Given the description of an element on the screen output the (x, y) to click on. 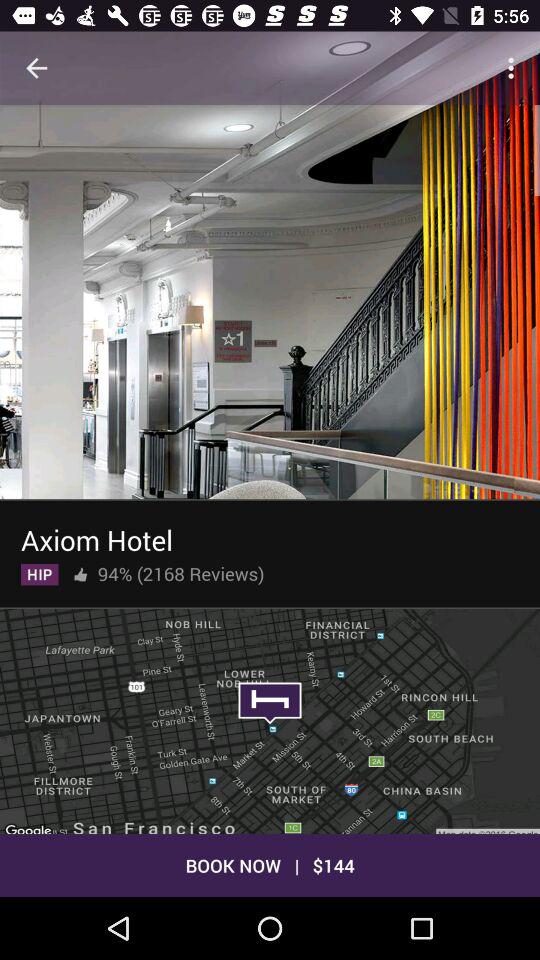
turn off item below the axiom hotel (180, 569)
